Given the description of an element on the screen output the (x, y) to click on. 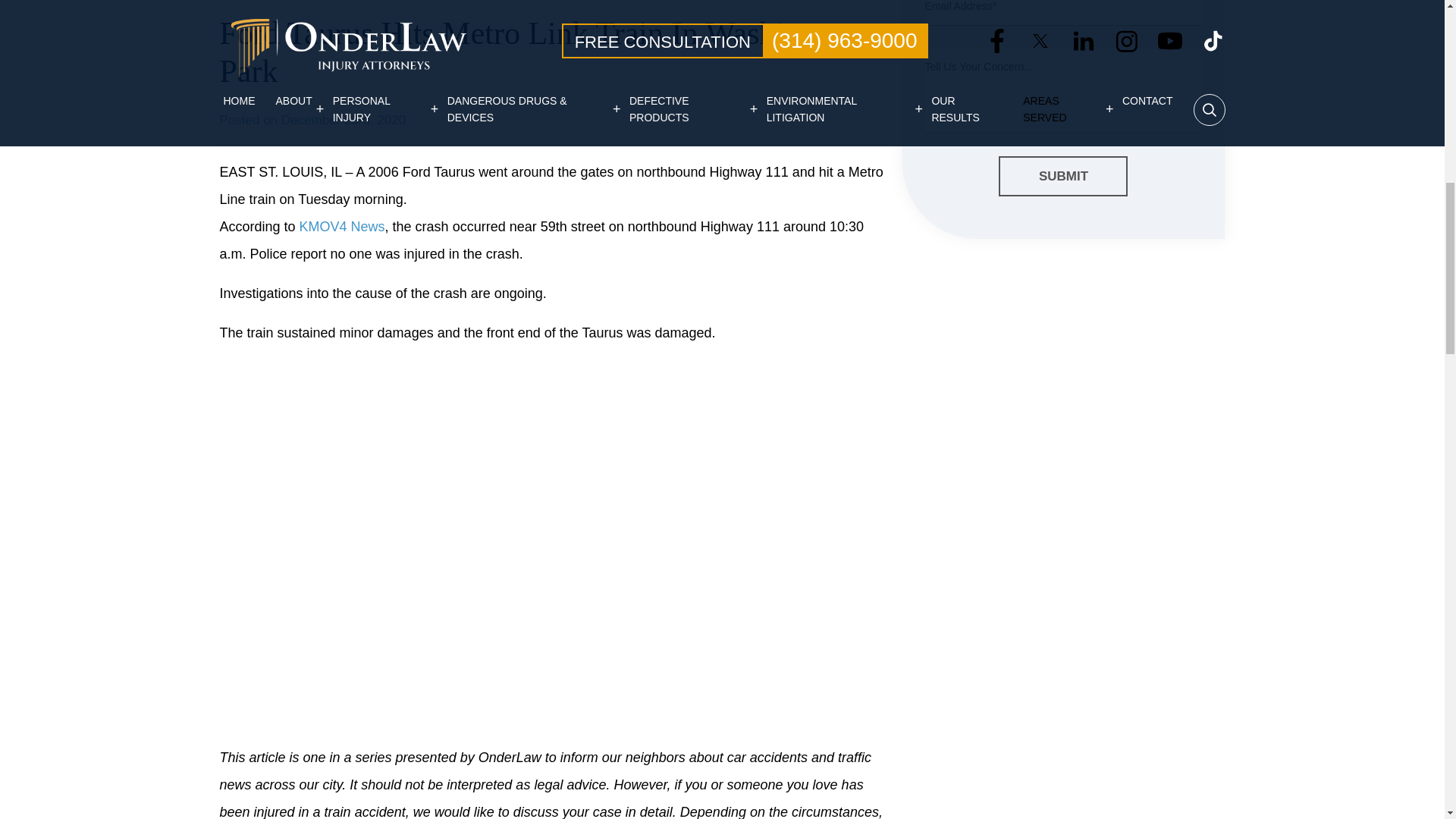
Submit (1062, 176)
